Given the description of an element on the screen output the (x, y) to click on. 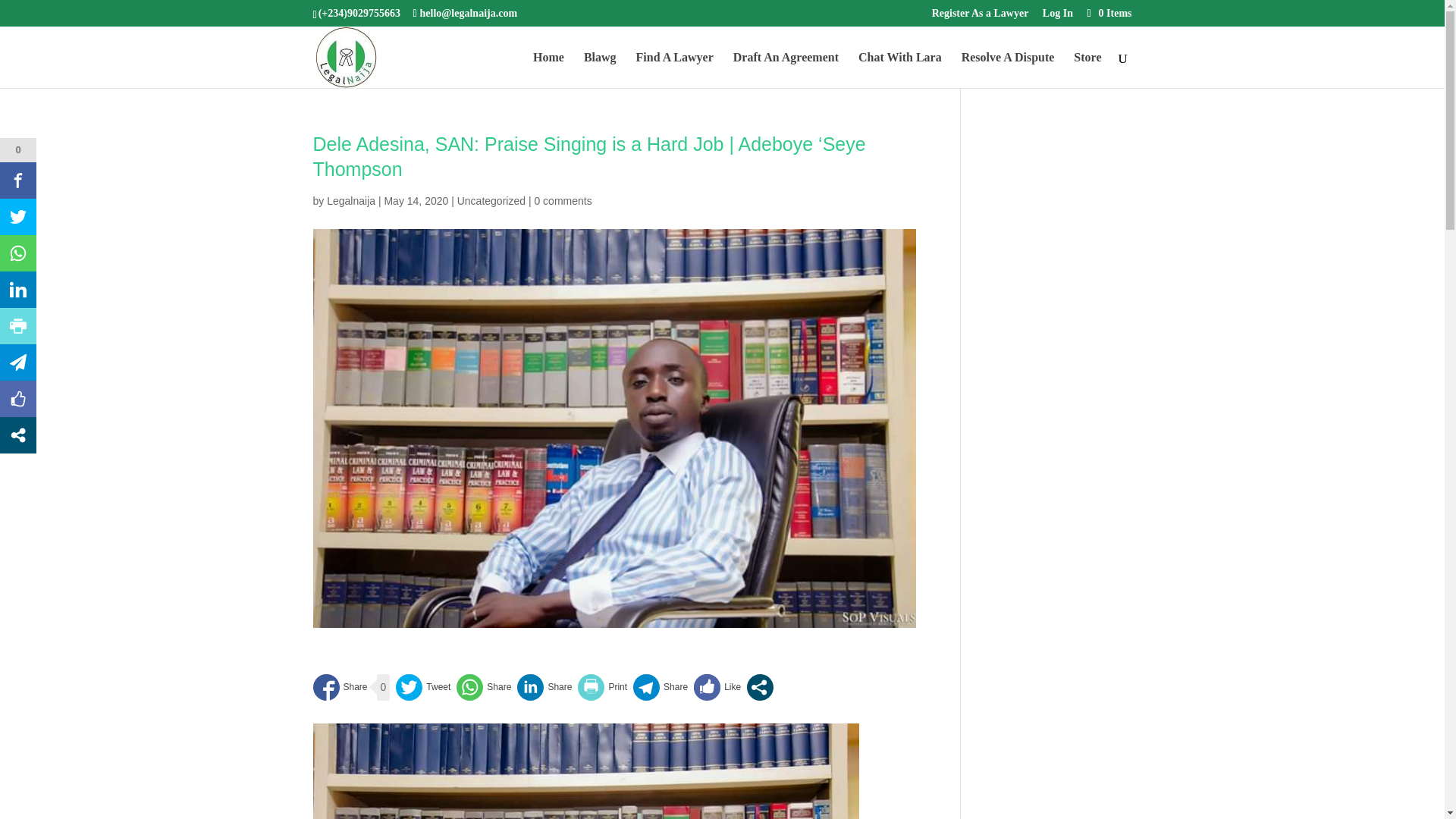
Legalnaija (350, 200)
Chat With Lara (900, 69)
Home (548, 69)
0 comments (562, 200)
Blawg (599, 69)
Share on Facebook (339, 687)
Share on Linkedin (544, 687)
Uncategorized (491, 200)
Share on WhatsApp (484, 687)
Posts by Legalnaija (350, 200)
Register As a Lawyer (980, 16)
Resolve A Dispute (1007, 69)
Tweet (422, 687)
Open modal social networks (759, 687)
Print via PrintFriendly (602, 687)
